Given the description of an element on the screen output the (x, y) to click on. 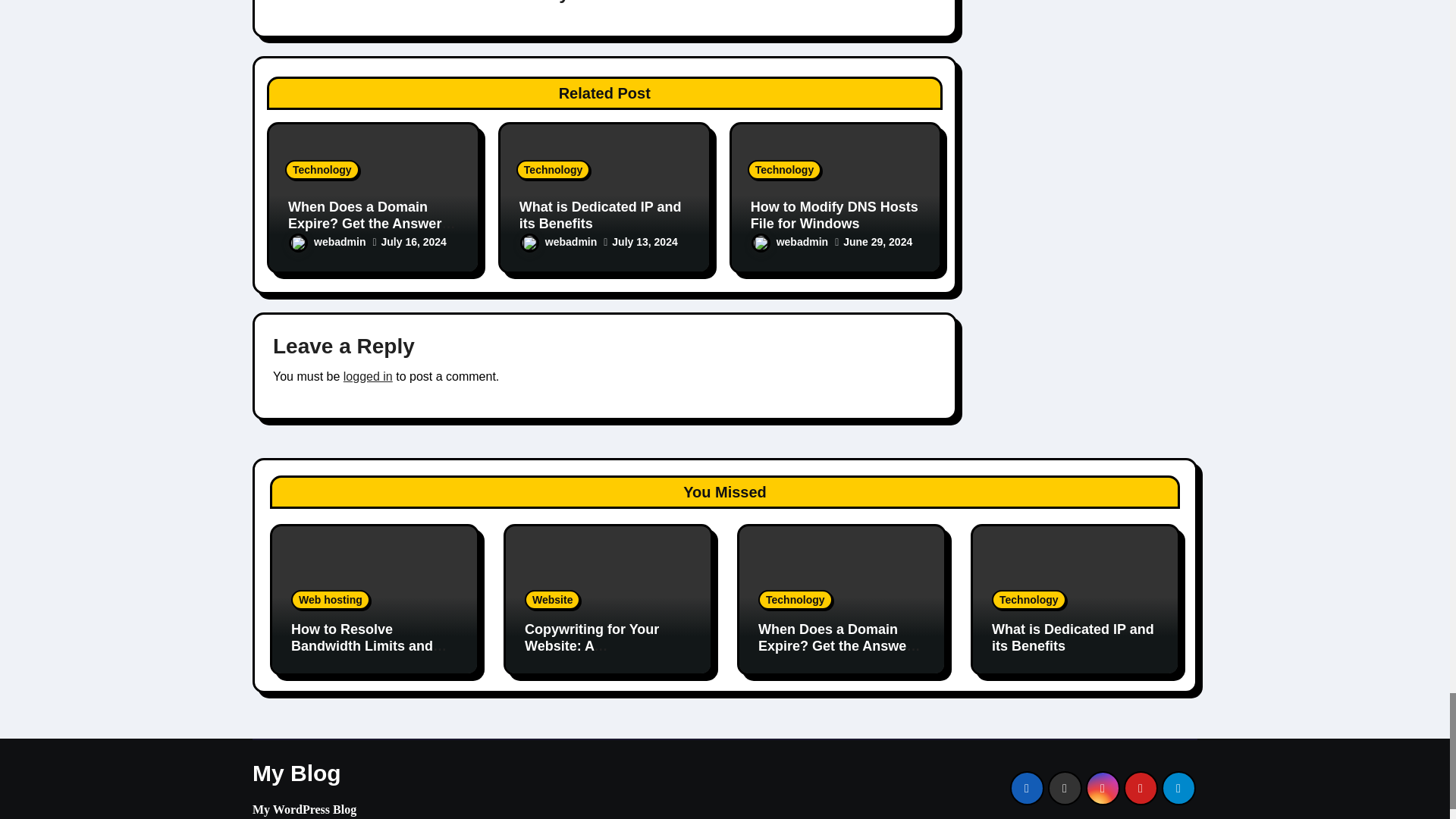
Permalink to: How to Modify DNS Hosts File for Windows (834, 214)
Permalink to: What is Dedicated IP and its Benefits (1072, 637)
Permalink to: What is Dedicated IP and its Benefits (600, 214)
